Given the description of an element on the screen output the (x, y) to click on. 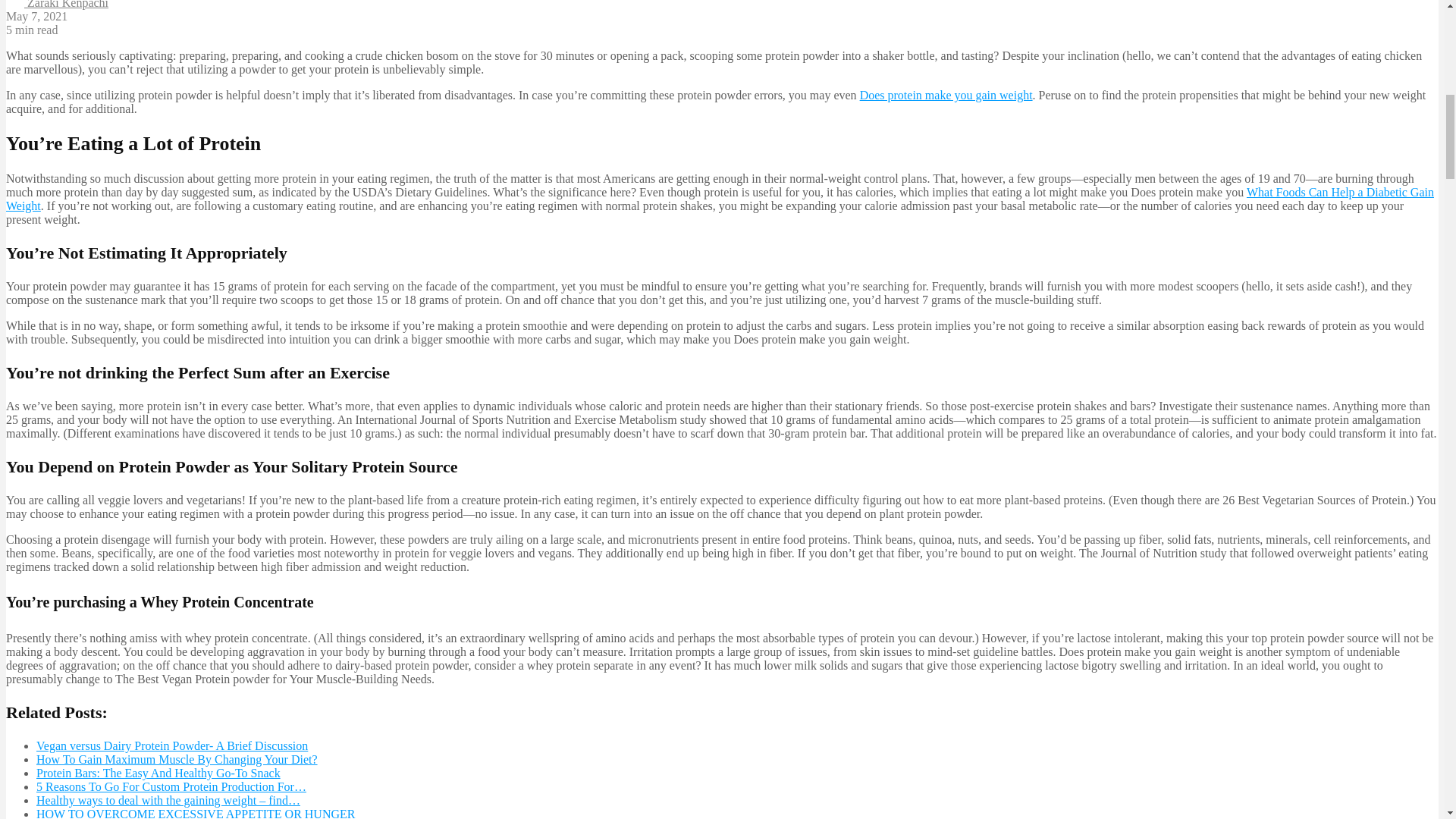
How To Gain Maximum Muscle By Changing Your Diet? (176, 758)
Protein Bars: The Easy And Healthy Go-To Snack (158, 772)
Does protein make you gain weight (946, 94)
Vegan versus Dairy Protein Powder- A Brief Discussion (171, 745)
HOW TO OVERCOME EXCESSIVE APPETITE OR HUNGER (195, 813)
Zaraki Kenpachi (56, 4)
